Given the description of an element on the screen output the (x, y) to click on. 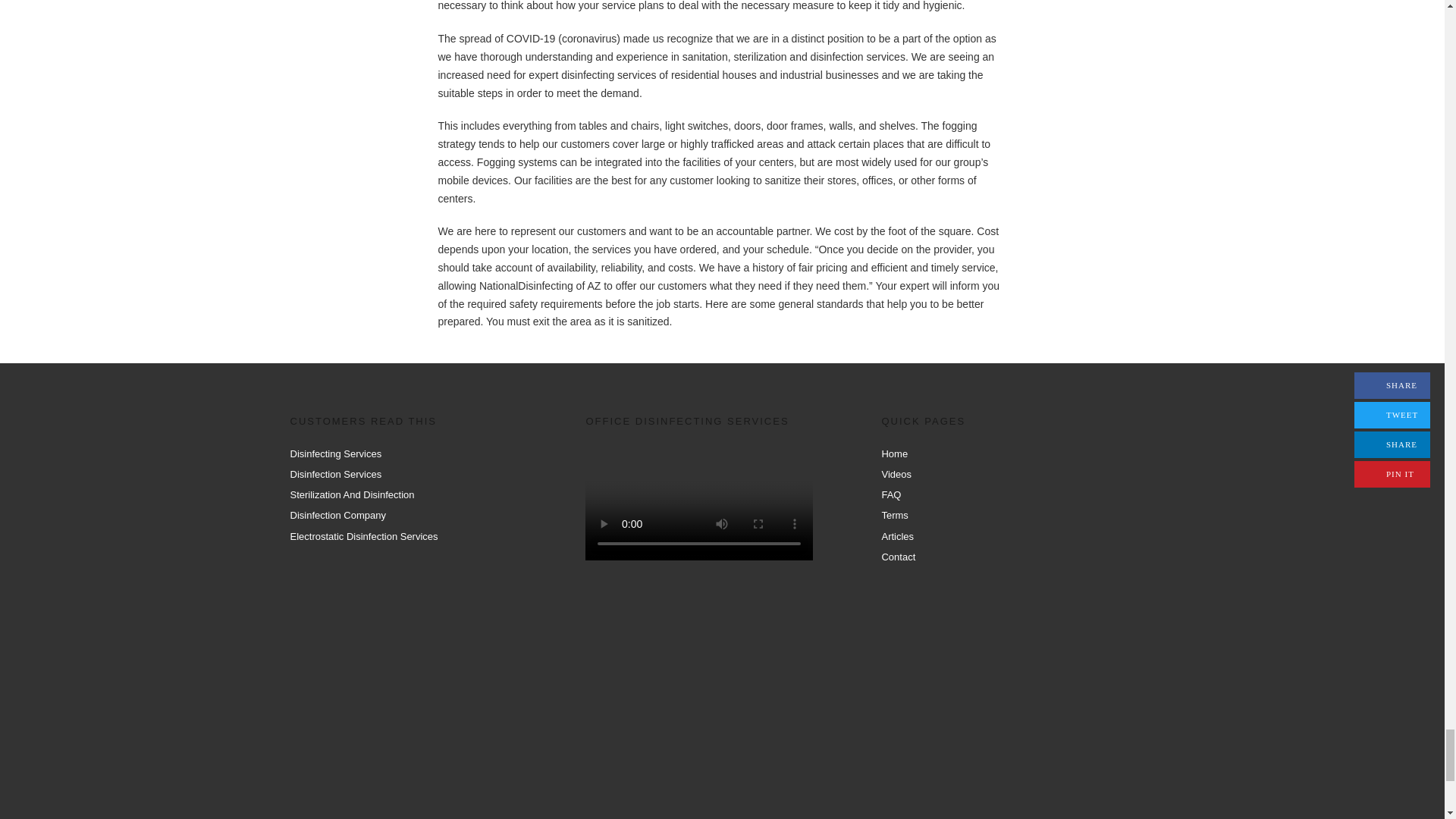
Home (893, 453)
Disinfecting Services (335, 453)
Electrostatic Disinfection Services (363, 536)
Disinfection Services (335, 473)
Disinfection Company (337, 514)
Sterilization And Disinfection (351, 494)
National Disinfecting (716, 705)
